Given the description of an element on the screen output the (x, y) to click on. 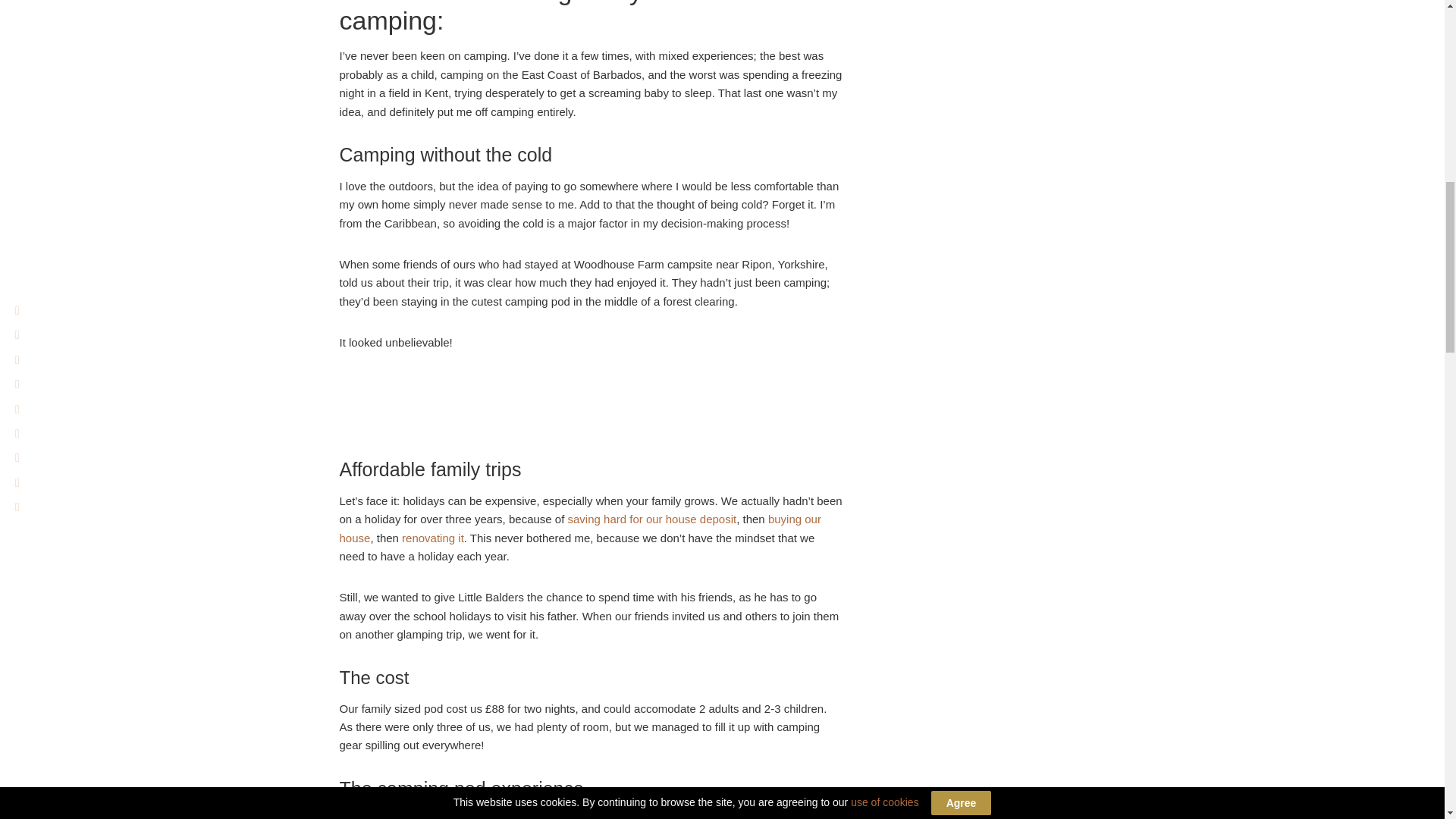
buying our house (580, 527)
saving hard for our house deposit (651, 518)
renovating it (432, 537)
